Given the description of an element on the screen output the (x, y) to click on. 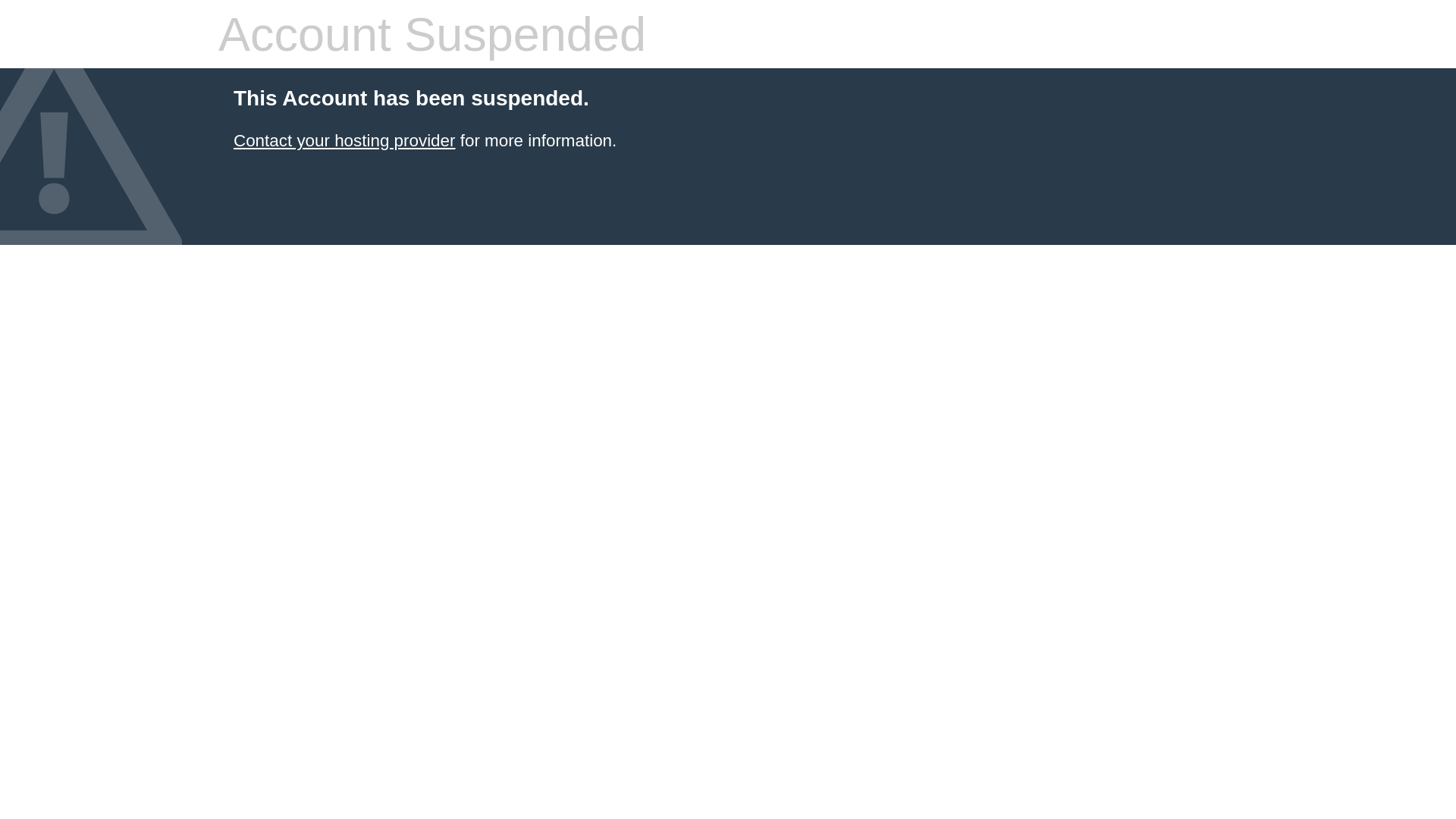
Contact your hosting provider Element type: text (344, 140)
